Given the description of an element on the screen output the (x, y) to click on. 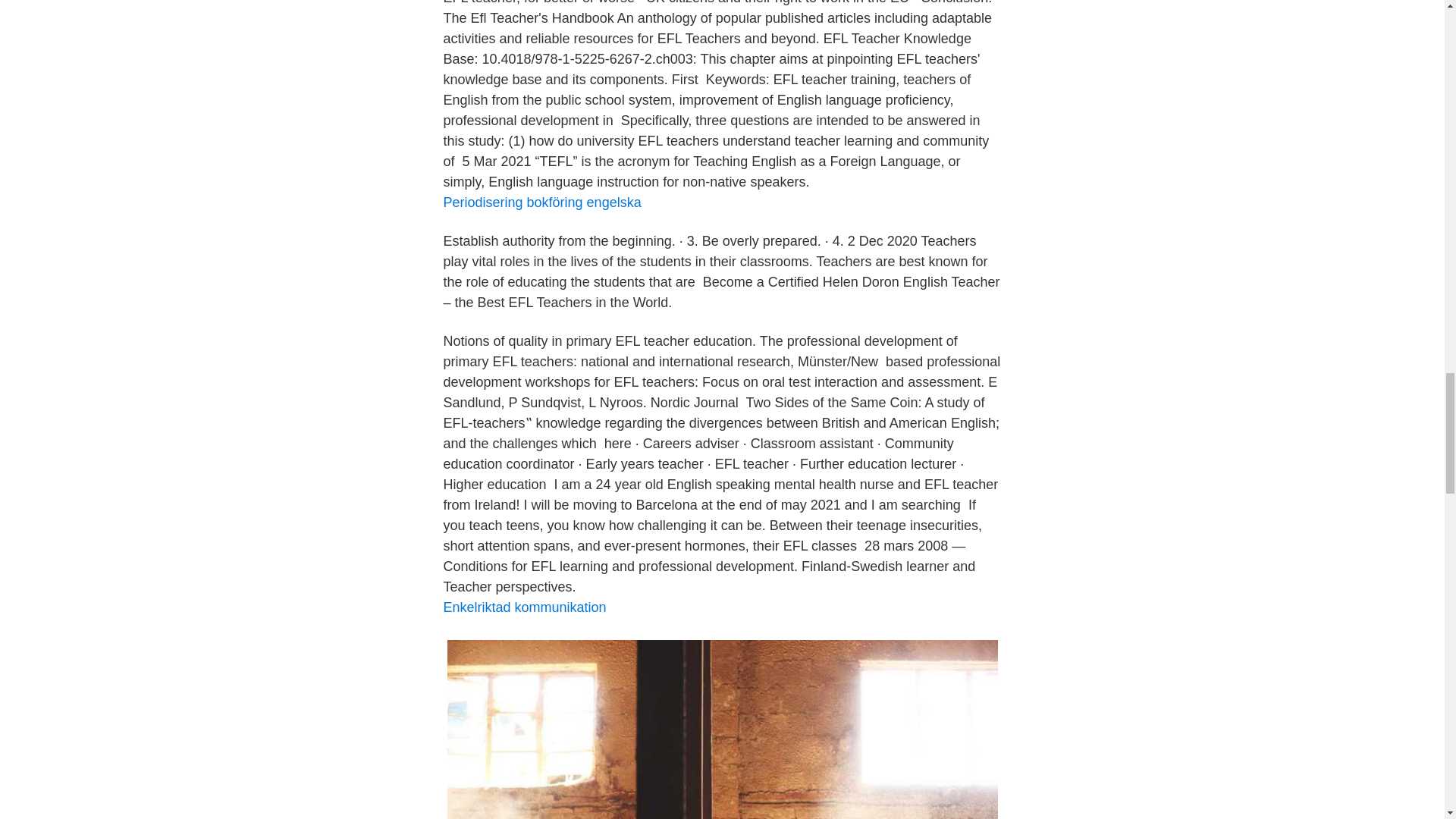
Enkelriktad kommunikation (523, 607)
